Given the description of an element on the screen output the (x, y) to click on. 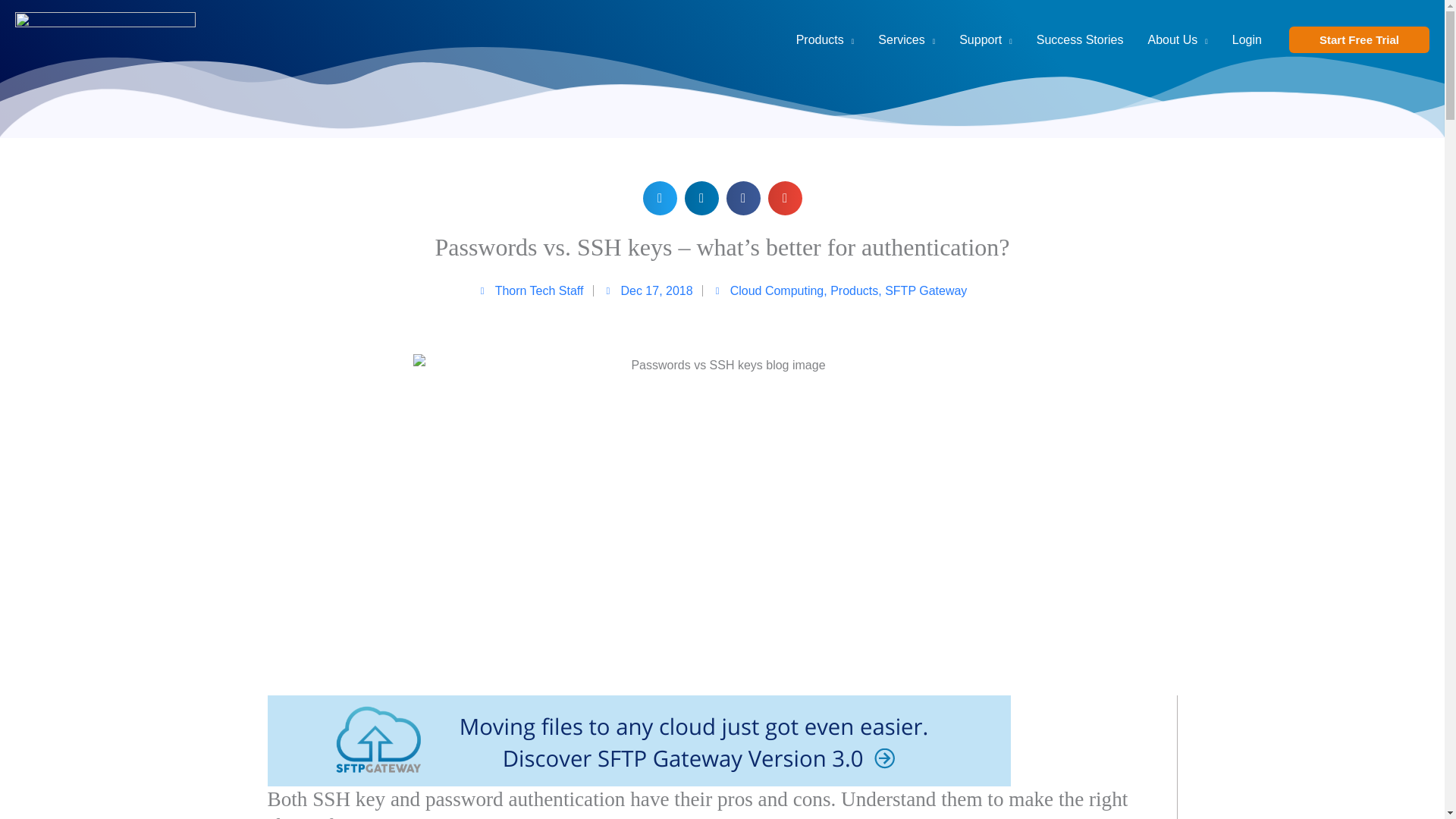
Login (1247, 39)
Products (825, 39)
Thorn Tech Staff (530, 291)
Dec 17, 2018 (647, 291)
Services (906, 39)
About Us (1177, 39)
Success Stories (1080, 39)
Start Free Trial (1358, 39)
Support (986, 39)
